Given the description of an element on the screen output the (x, y) to click on. 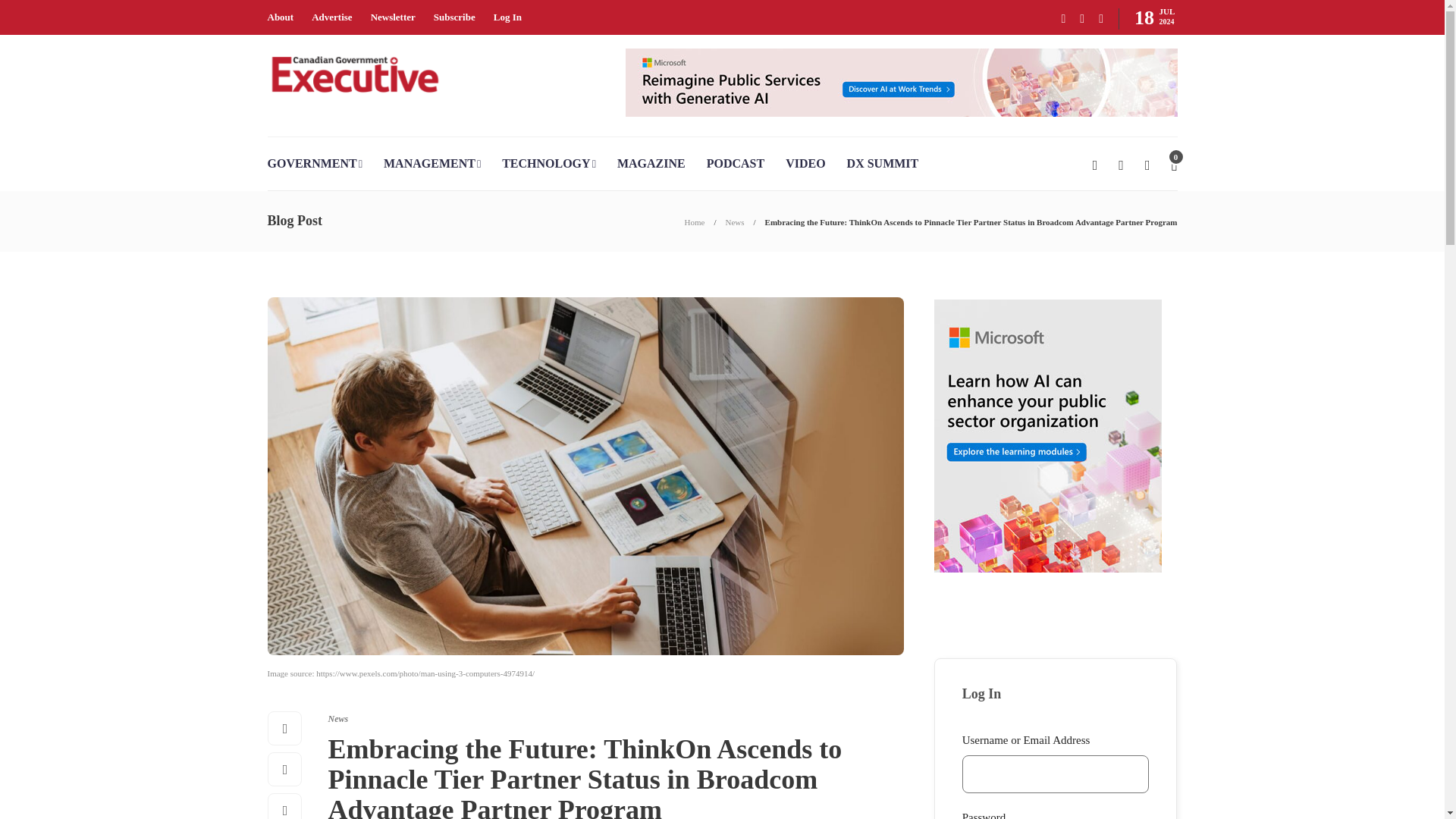
Home (694, 221)
